Given the description of an element on the screen output the (x, y) to click on. 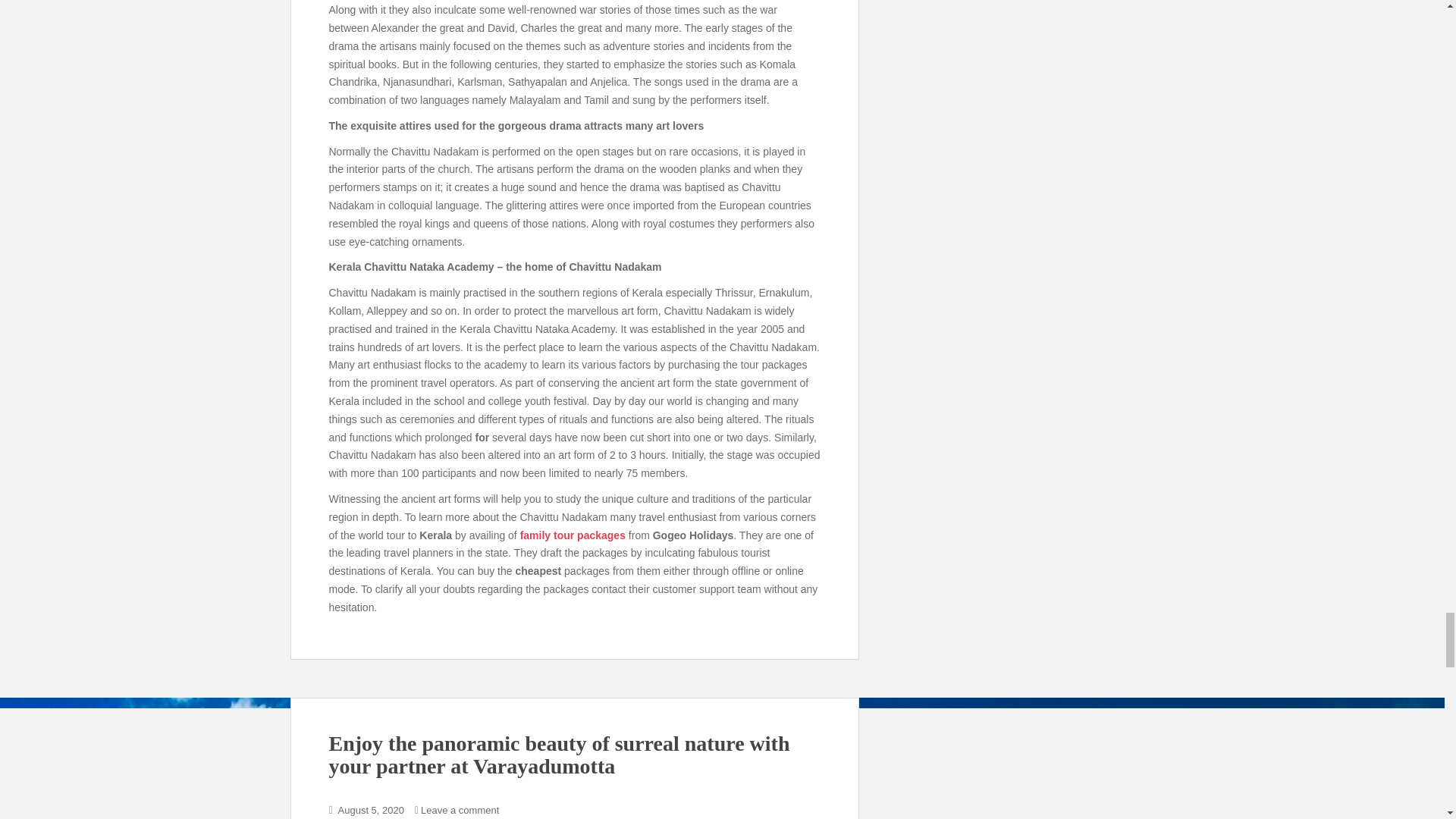
Leave a comment (459, 809)
August 5, 2020 (370, 809)
family tour packages (572, 535)
